Given the description of an element on the screen output the (x, y) to click on. 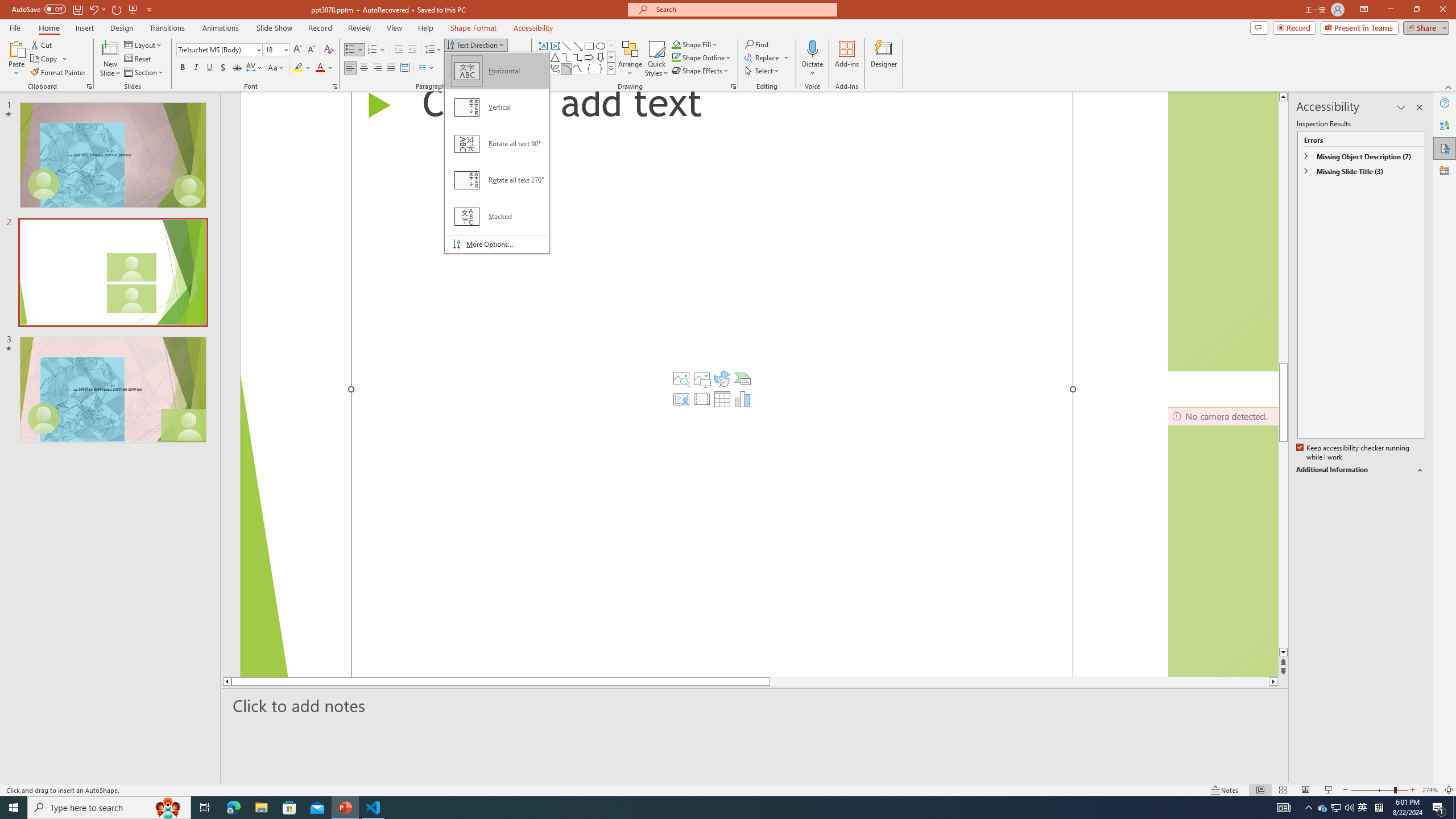
Keep accessibility checker running while I work (1353, 452)
Shape Outline Green, Accent 1 (675, 56)
